Given the description of an element on the screen output the (x, y) to click on. 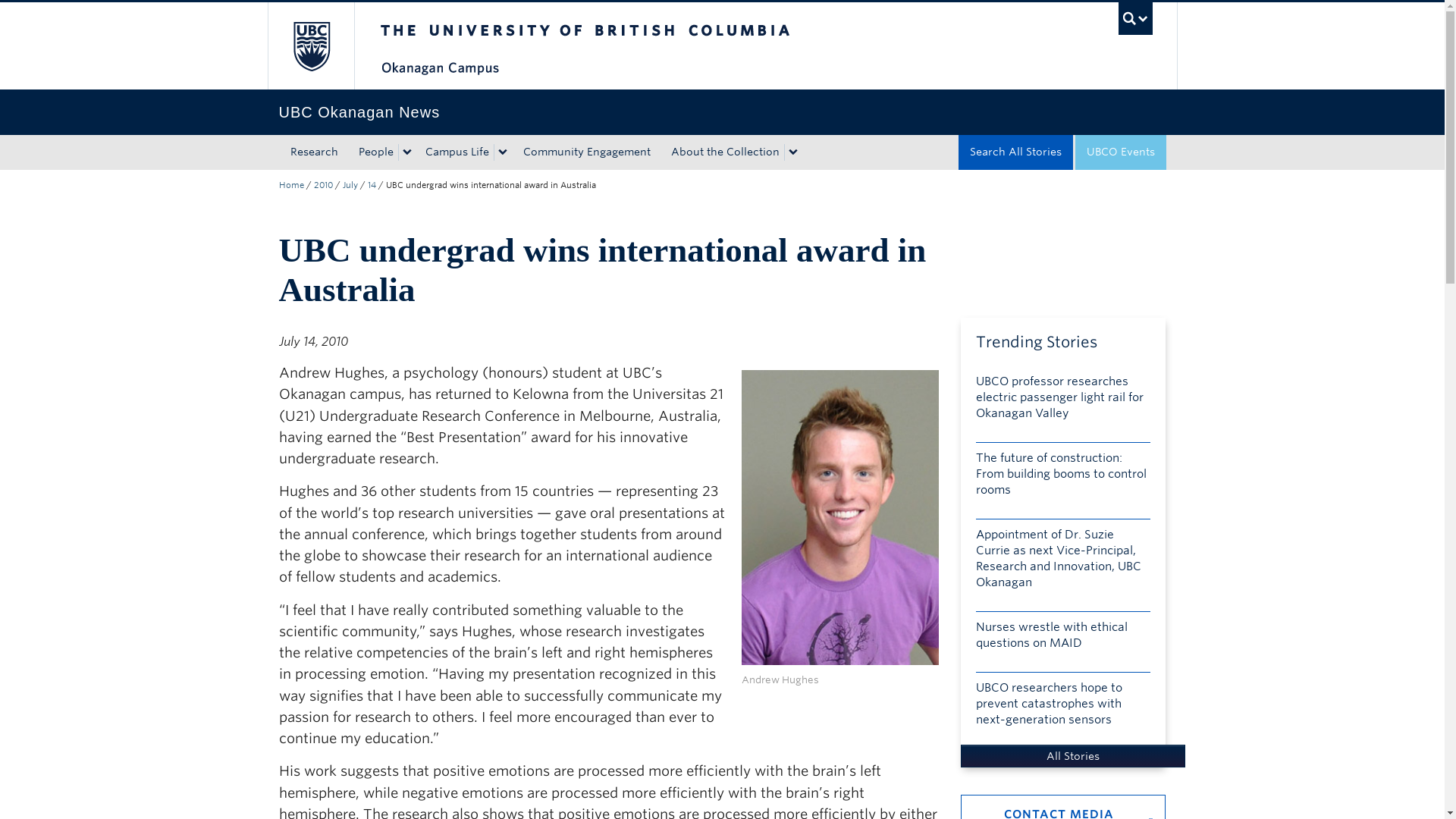
UBC Okanagan News (722, 112)
UBCO Events (1120, 151)
Events (1120, 151)
UBC Search (1135, 18)
The University of British Columbia (309, 45)
UBC Okanagan News (722, 112)
2010 (323, 184)
2010 (323, 184)
Campus Life (453, 151)
UBC Okanagan News (291, 184)
July 14, 2010 (370, 184)
Home (291, 184)
July 2010 (350, 184)
People (373, 151)
